Given the description of an element on the screen output the (x, y) to click on. 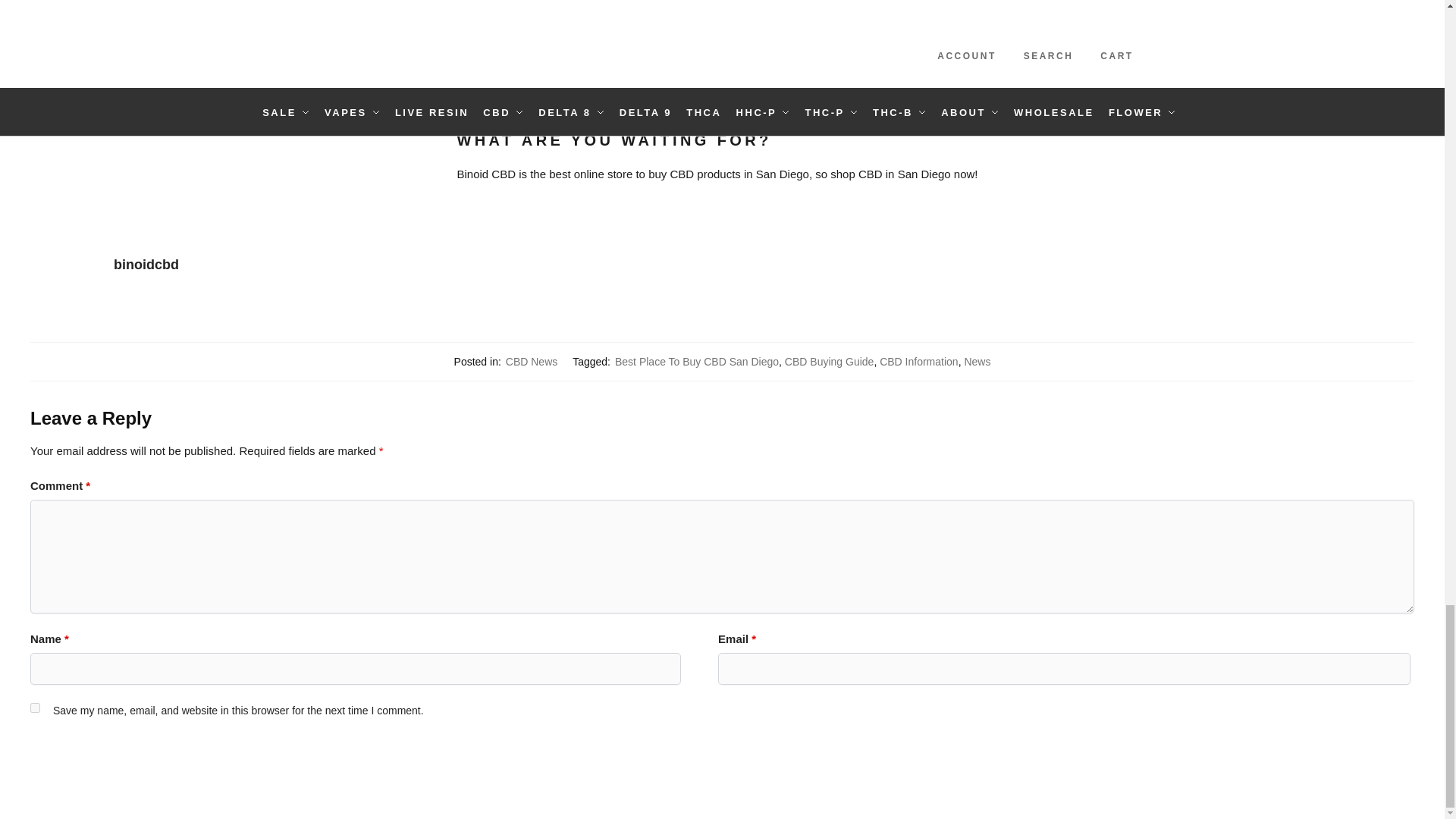
yes (35, 707)
